Given the description of an element on the screen output the (x, y) to click on. 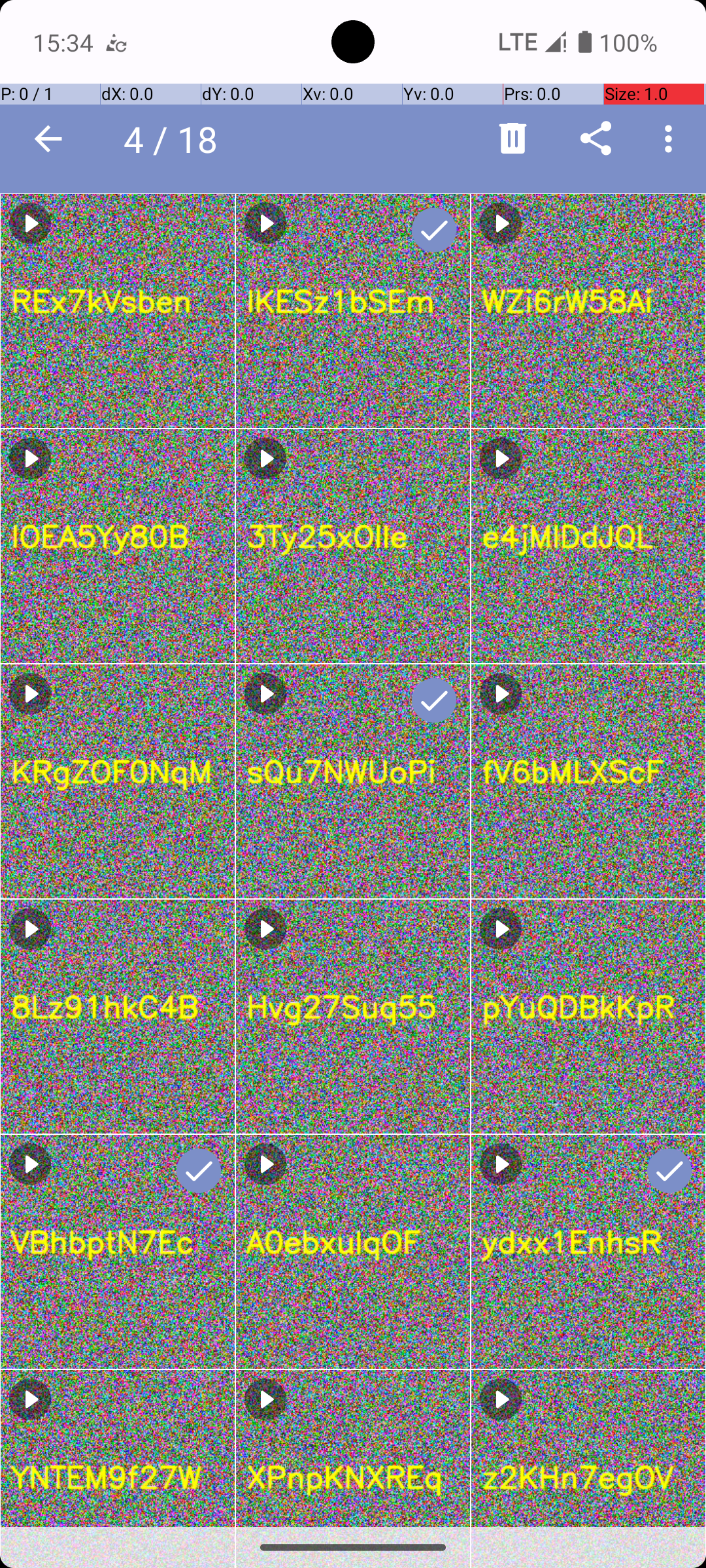
4 / 18 Element type: android.widget.TextView (177, 138)
Search in VLCVideos Element type: android.widget.EditText (252, 138)
